Given the description of an element on the screen output the (x, y) to click on. 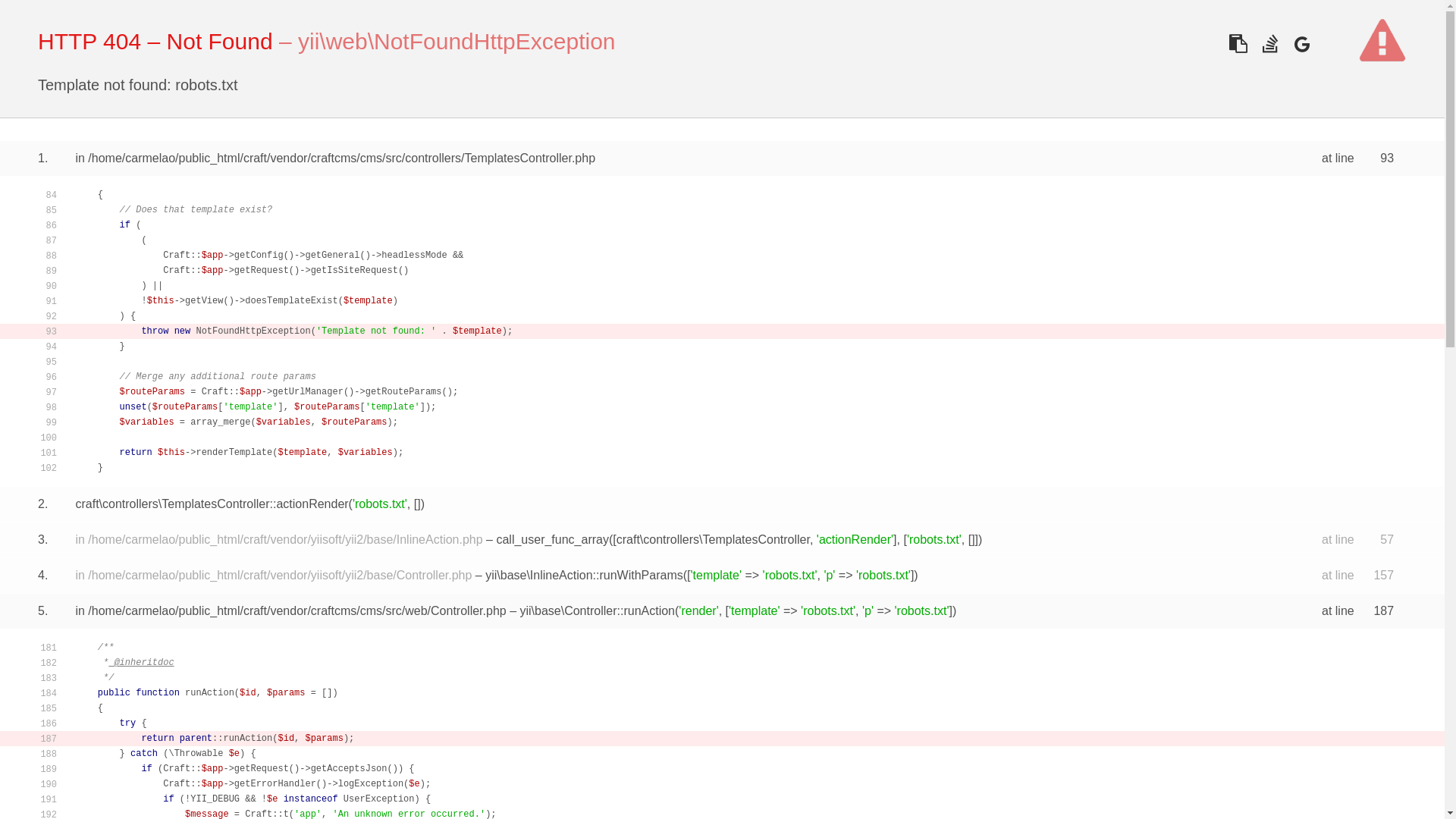
yii\web\NotFoundHttpException Element type: text (456, 40)
yii\base\Controller::runAction Element type: text (596, 610)
Copy the stacktrace for use in a bug report or pastebin Element type: hover (1237, 43)
yii\base\InlineAction::runWithParams Element type: text (584, 574)
Search error on Stackoverflow Element type: hover (1269, 43)
Search error on Google Element type: hover (1301, 43)
